Given the description of an element on the screen output the (x, y) to click on. 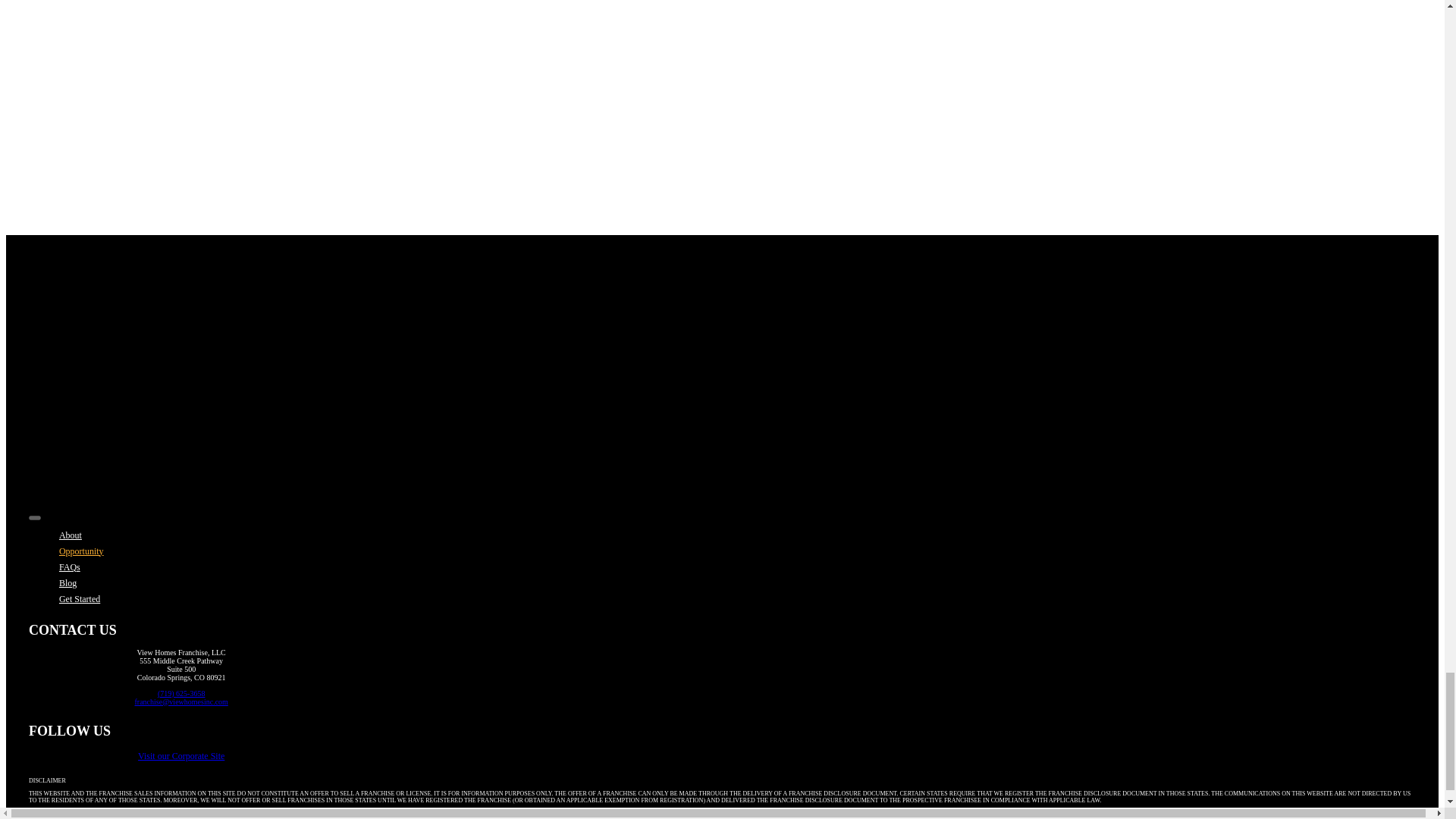
Blog (68, 583)
Opportunity (81, 551)
FAQs (69, 566)
REQUEST MORE INFORMATION (142, 148)
Visit our Corporate Site (181, 756)
Get Started (79, 598)
Toggle Navigation (34, 517)
About (70, 534)
